Given the description of an element on the screen output the (x, y) to click on. 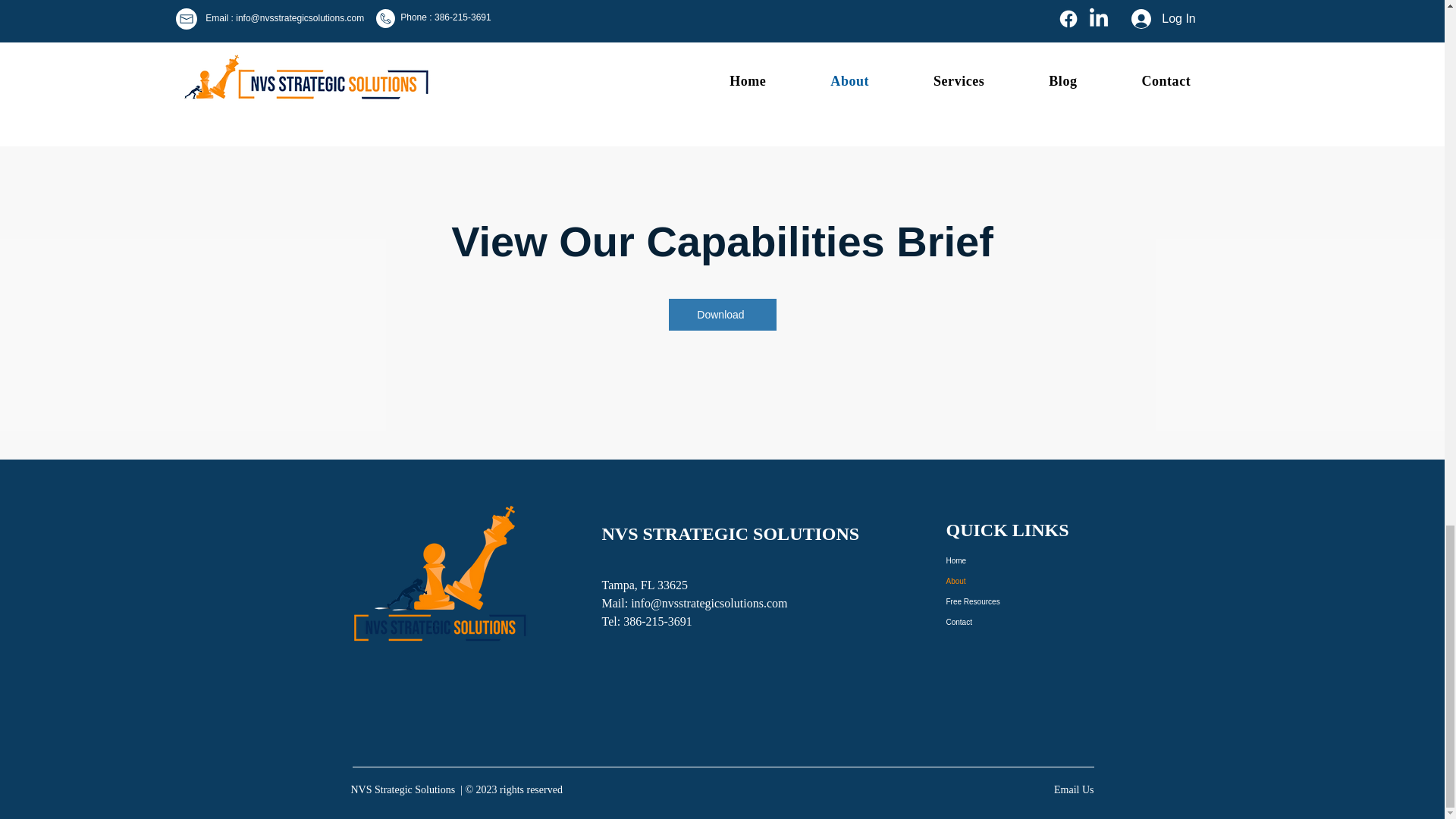
About (1016, 580)
Contact (1016, 621)
Free Resources (1016, 601)
Download (722, 314)
Home (1016, 560)
